Given the description of an element on the screen output the (x, y) to click on. 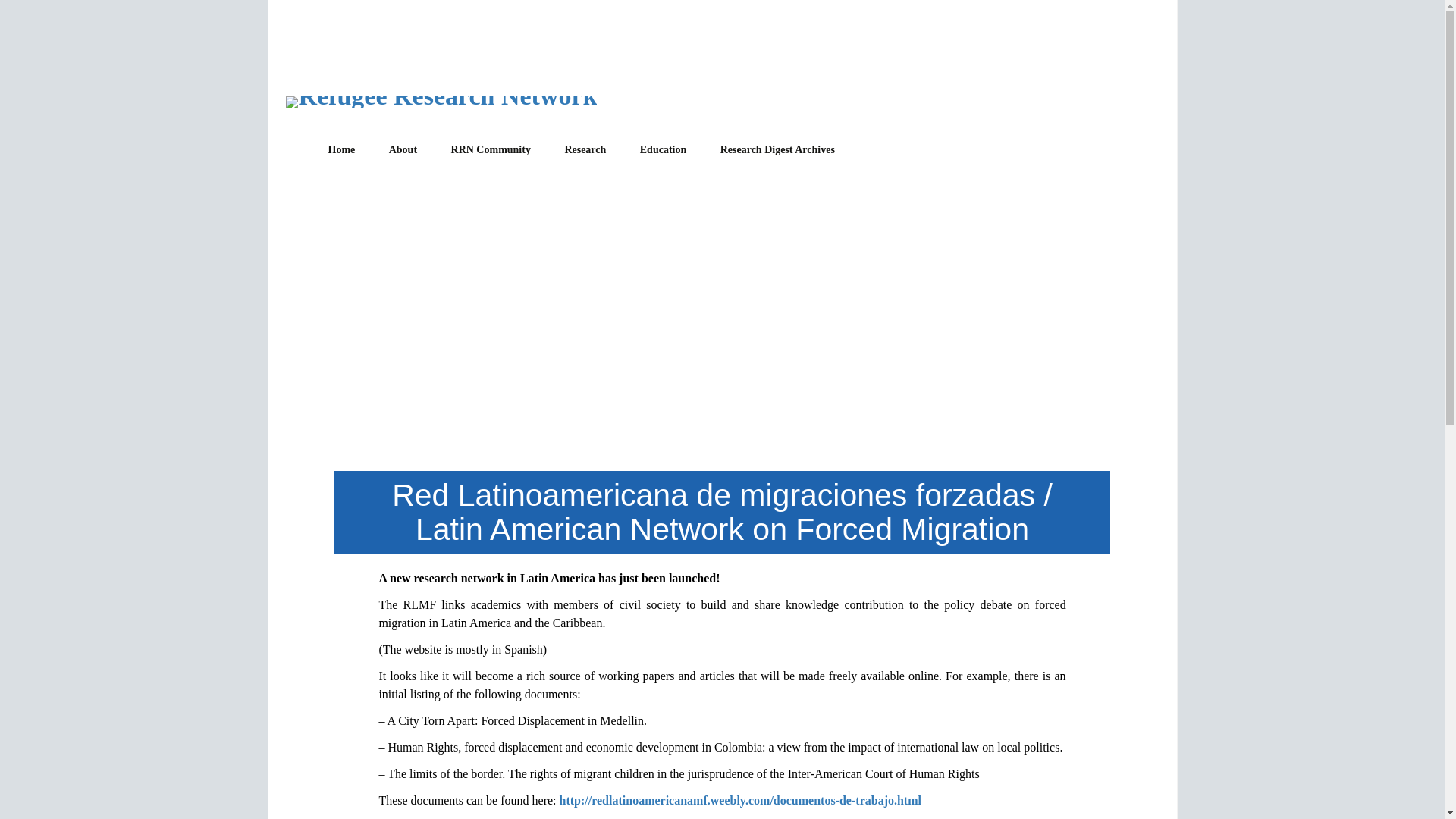
RRN Networks (511, 183)
Refugee Research Network (440, 99)
Research (584, 150)
RRN Community (490, 150)
Research Digest Archives (777, 150)
Institutional Repositories (624, 183)
Certificate Programs (700, 183)
Research Team (449, 183)
Education (662, 150)
Home (341, 150)
About (403, 150)
